Given the description of an element on the screen output the (x, y) to click on. 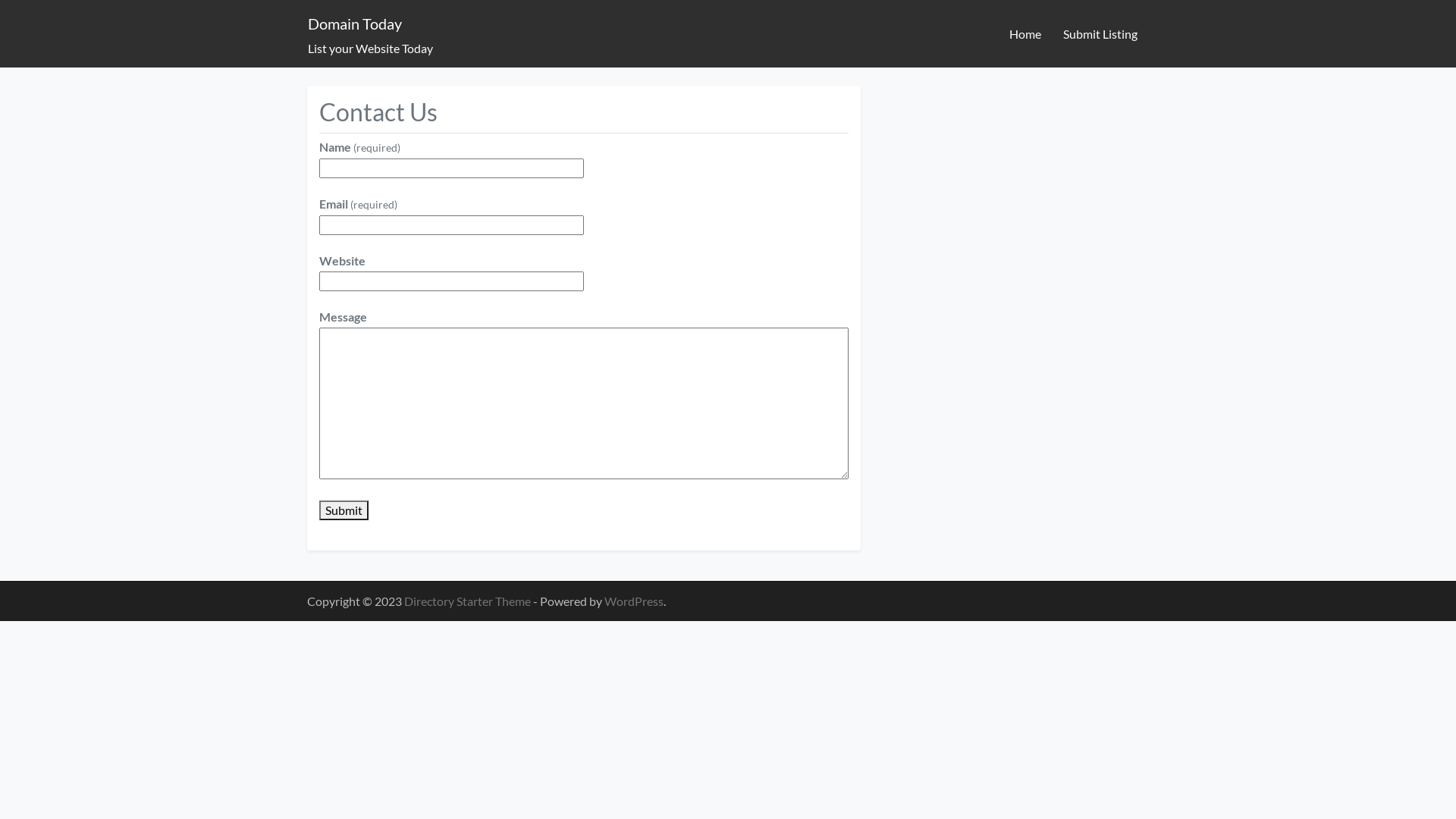
Submit Element type: text (343, 510)
Home Element type: text (1024, 33)
Directory Starter Theme Element type: text (468, 600)
Domain Today Element type: text (354, 23)
Submit Listing Element type: text (1099, 33)
WordPress Element type: text (633, 600)
List your Website Today Element type: text (370, 47)
